Given the description of an element on the screen output the (x, y) to click on. 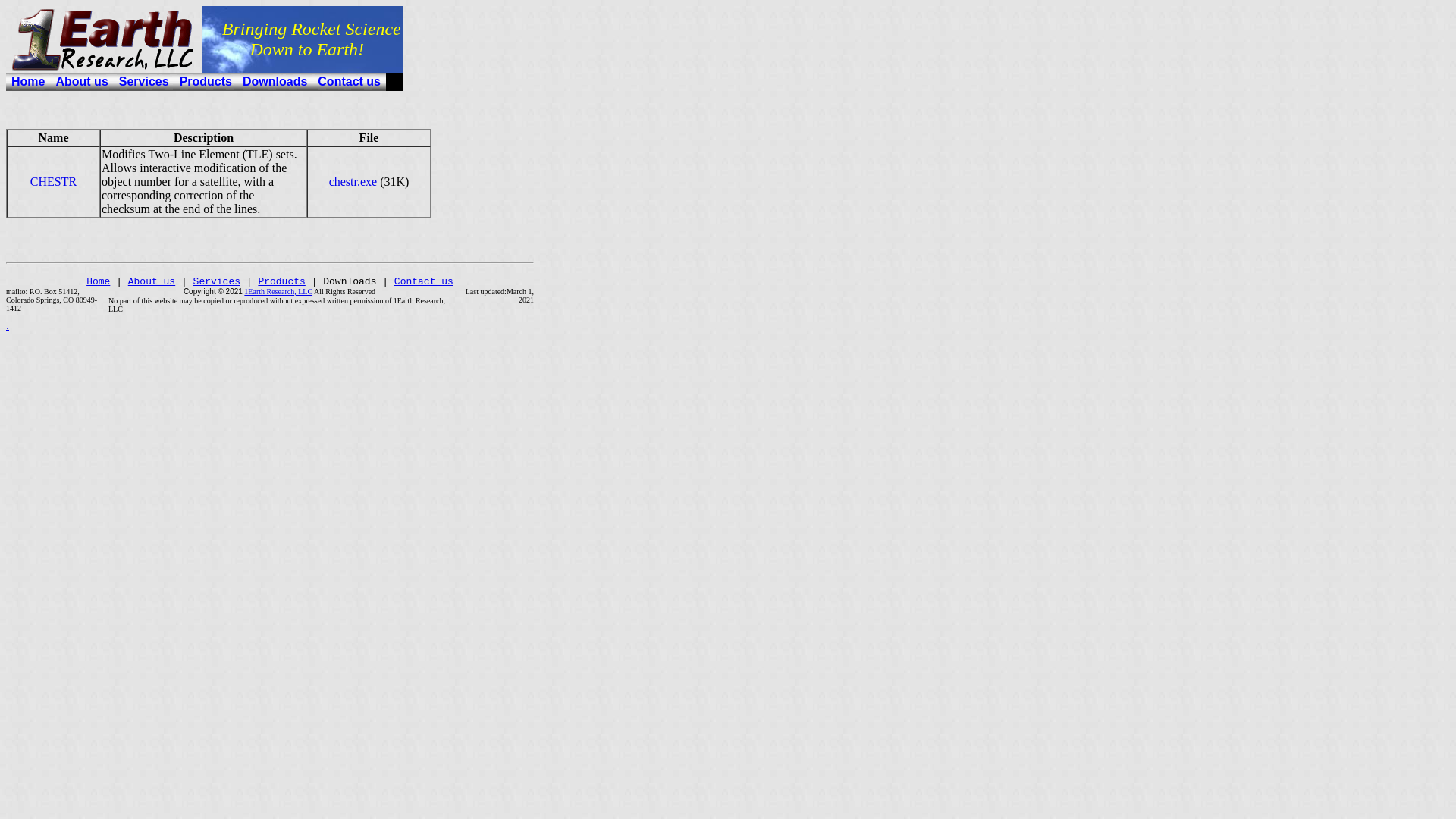
Contact us Element type: text (423, 281)
Products Element type: text (205, 81)
Services Element type: text (144, 81)
Home Element type: text (27, 81)
Downloads Element type: text (274, 81)
Products Element type: text (280, 281)
. Element type: text (7, 324)
About us Element type: text (81, 81)
CHESTR Element type: text (53, 181)
Services Element type: text (216, 281)
1Earth Research, LLC Element type: text (278, 291)
chestr.exe Element type: text (353, 181)
Home Element type: text (97, 281)
Contact us Element type: text (348, 81)
About us Element type: text (151, 281)
